Given the description of an element on the screen output the (x, y) to click on. 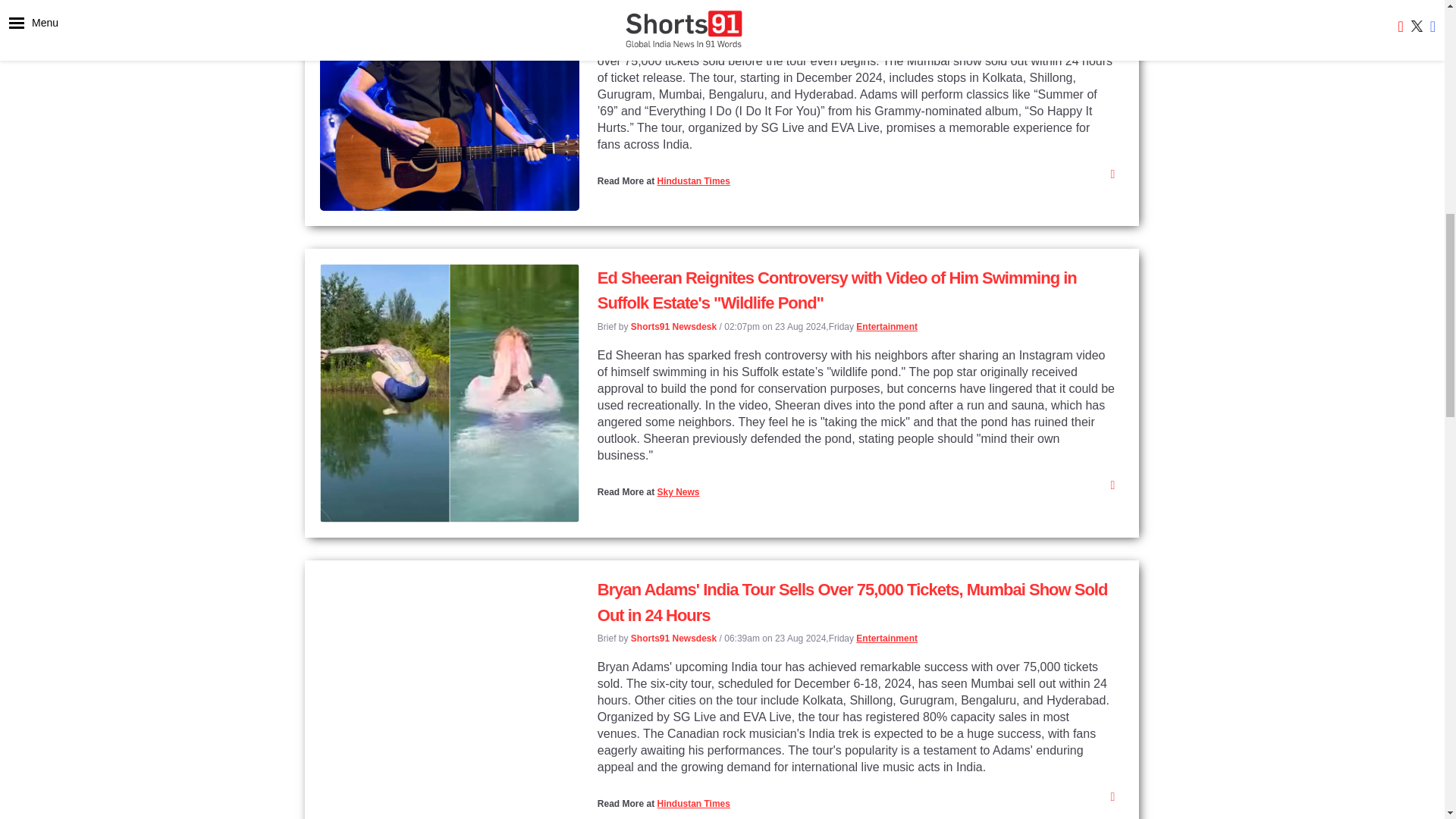
Entertainment (886, 326)
Hindustan Times (692, 181)
Entertainment (892, 15)
Sky News (677, 491)
